Given the description of an element on the screen output the (x, y) to click on. 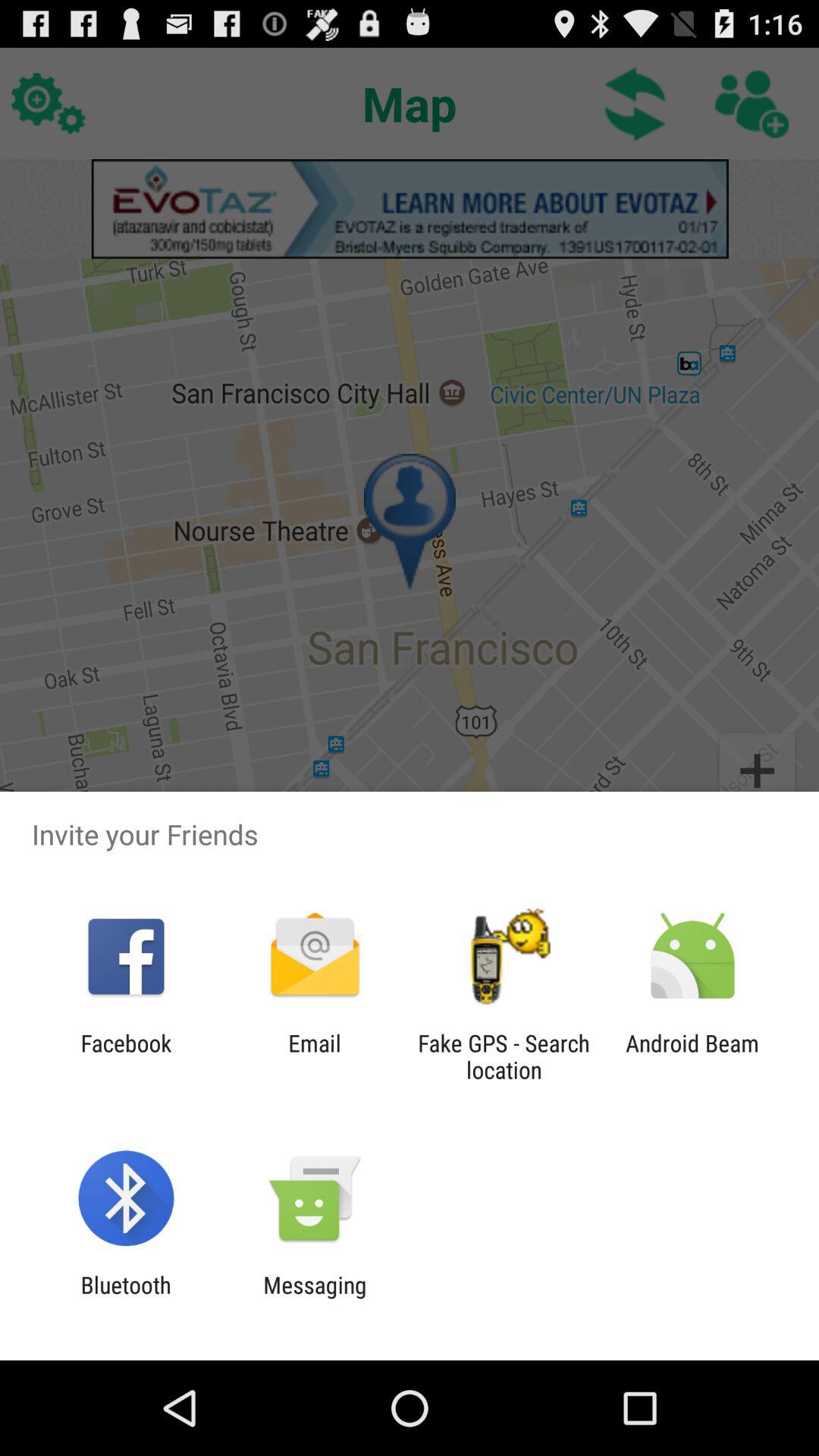
scroll until messaging app (314, 1298)
